Given the description of an element on the screen output the (x, y) to click on. 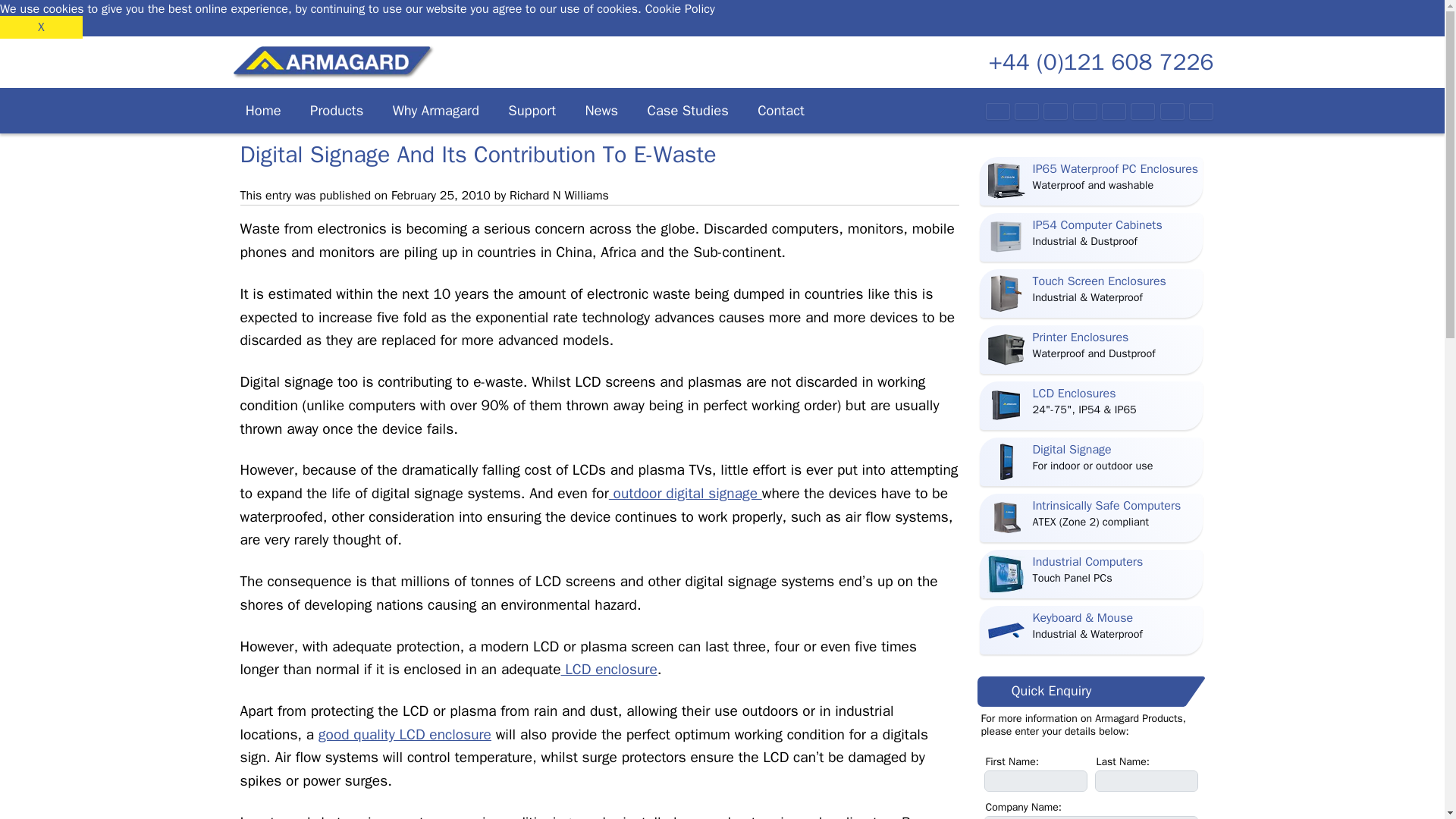
Why Armagard (435, 110)
News (600, 110)
Home (262, 110)
Armagard Italiano (1139, 110)
Armagard Nederland (1198, 110)
Case Studies (686, 110)
outdoor digital signage (684, 493)
Support (531, 110)
Armagard Polski (1053, 110)
Support (531, 110)
Cookie Policy (679, 8)
Products (336, 110)
Products (336, 110)
Contact (780, 110)
News (600, 110)
